Given the description of an element on the screen output the (x, y) to click on. 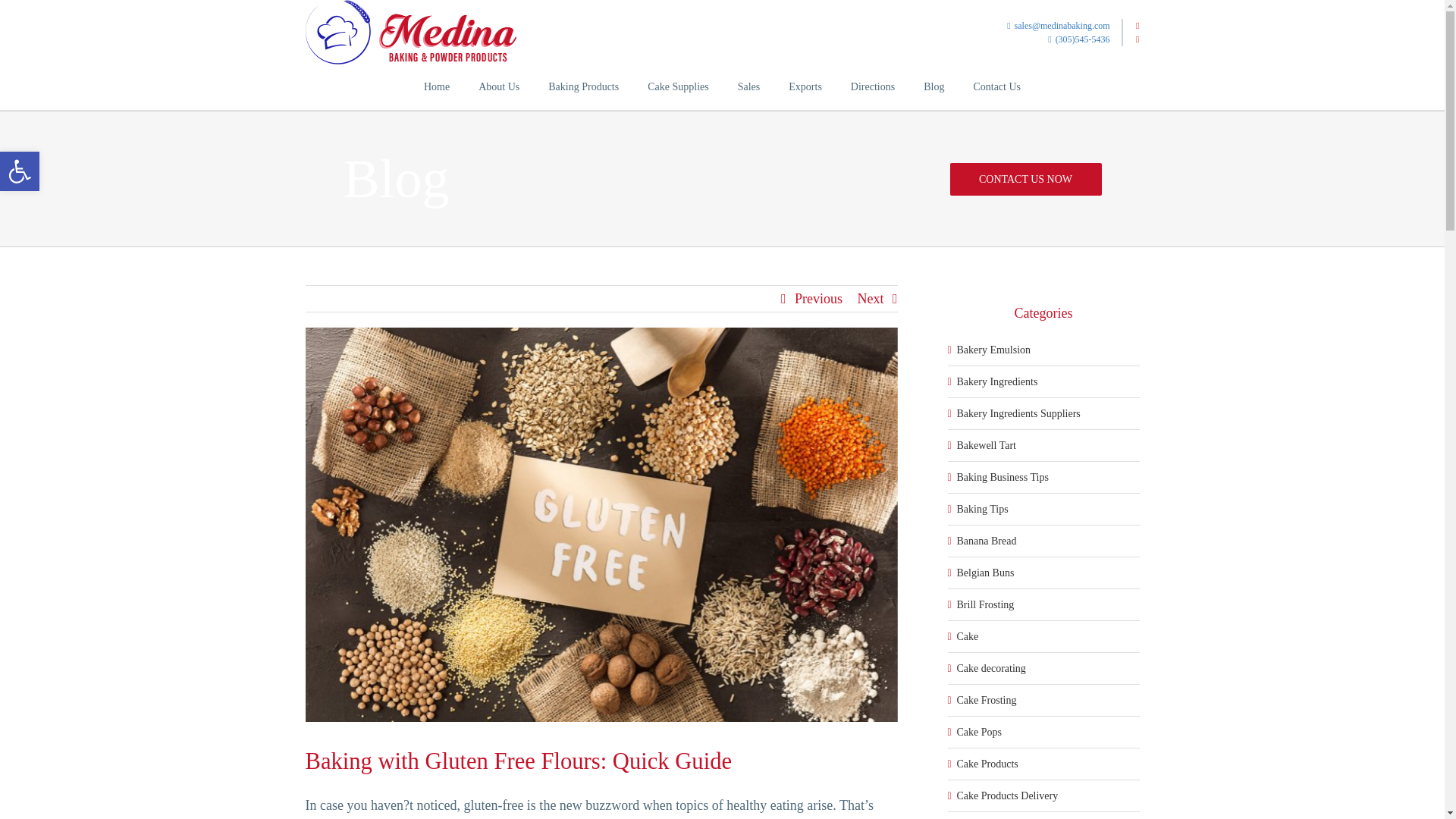
Accessibility Tools (19, 170)
Baking Products (583, 86)
Accessibility Tools (19, 170)
About Us (499, 86)
